Given the description of an element on the screen output the (x, y) to click on. 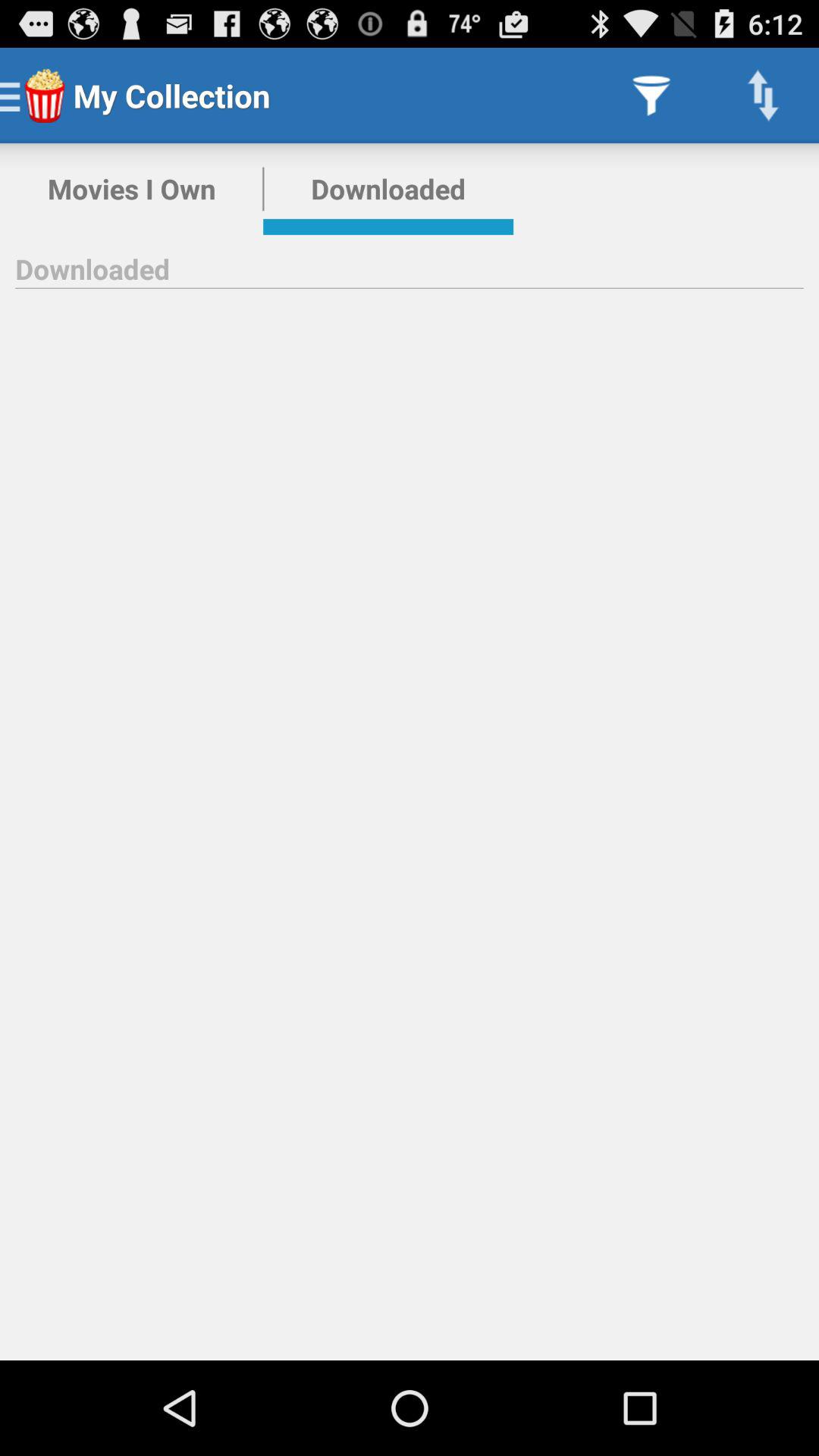
launch icon below the my collection app (388, 188)
